Given the description of an element on the screen output the (x, y) to click on. 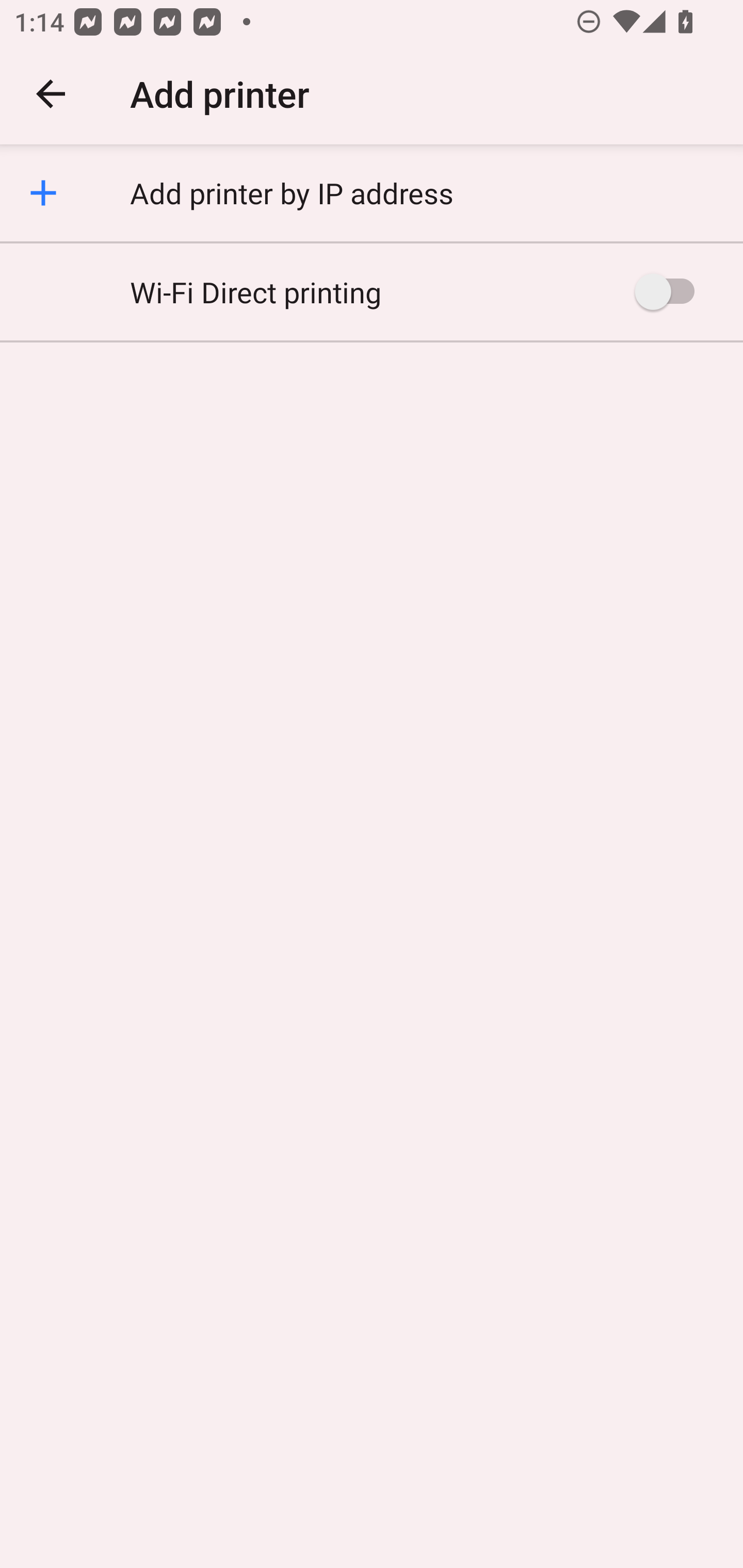
Navigate up (50, 93)
Add printer by IP address (371, 192)
Wi-Fi Direct printing (371, 291)
